Given the description of an element on the screen output the (x, y) to click on. 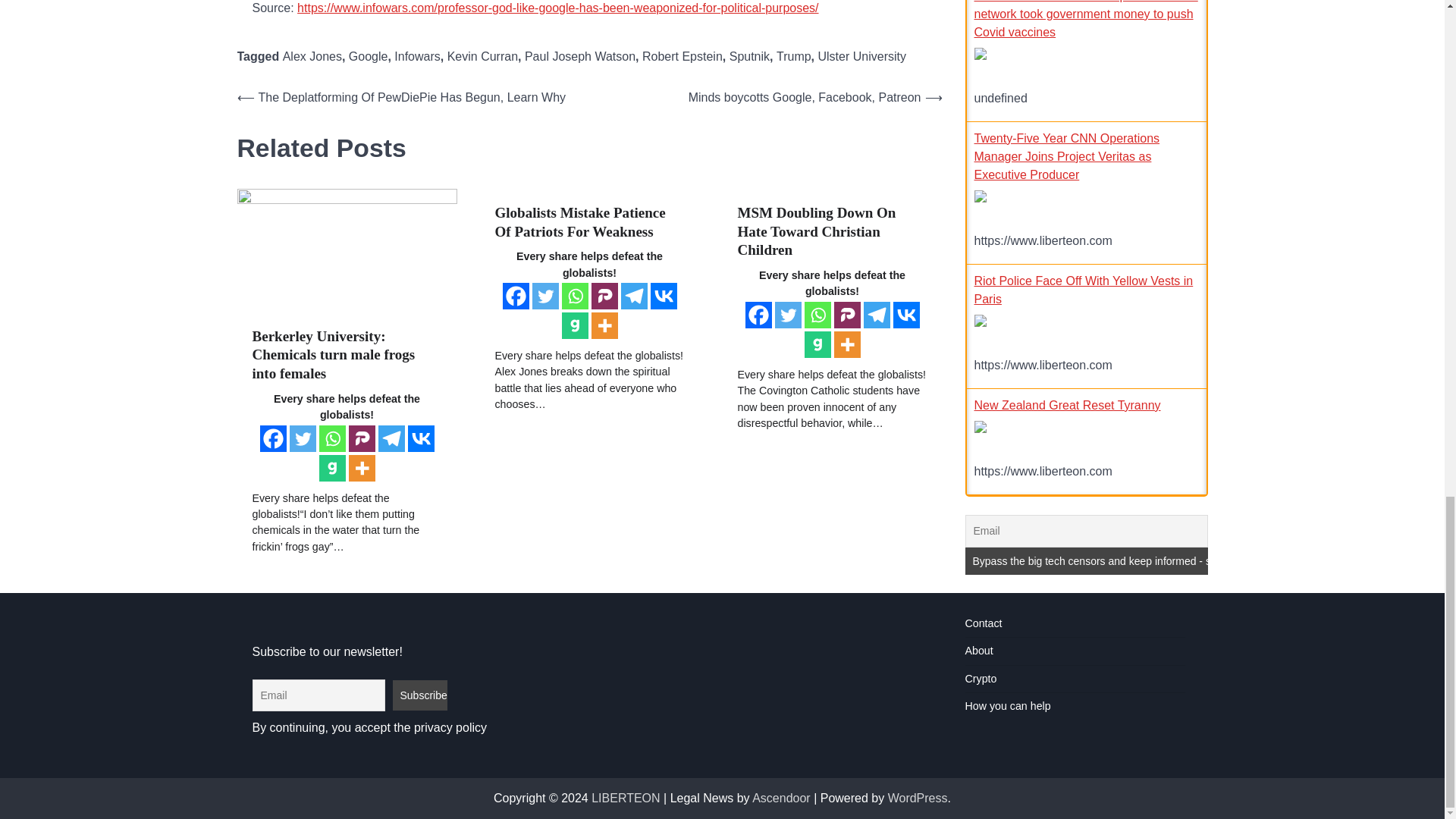
Google (368, 56)
Twitter (302, 438)
Infowars (416, 56)
Whatsapp (331, 438)
Subscribe (420, 695)
Sputnik (749, 56)
Paul Joseph Watson (579, 56)
Ulster University (860, 56)
Facebook (272, 438)
Parler (362, 438)
Robert Epstein (682, 56)
Trump (793, 56)
Alex Jones (312, 56)
Kevin Curran (482, 56)
